Given the description of an element on the screen output the (x, y) to click on. 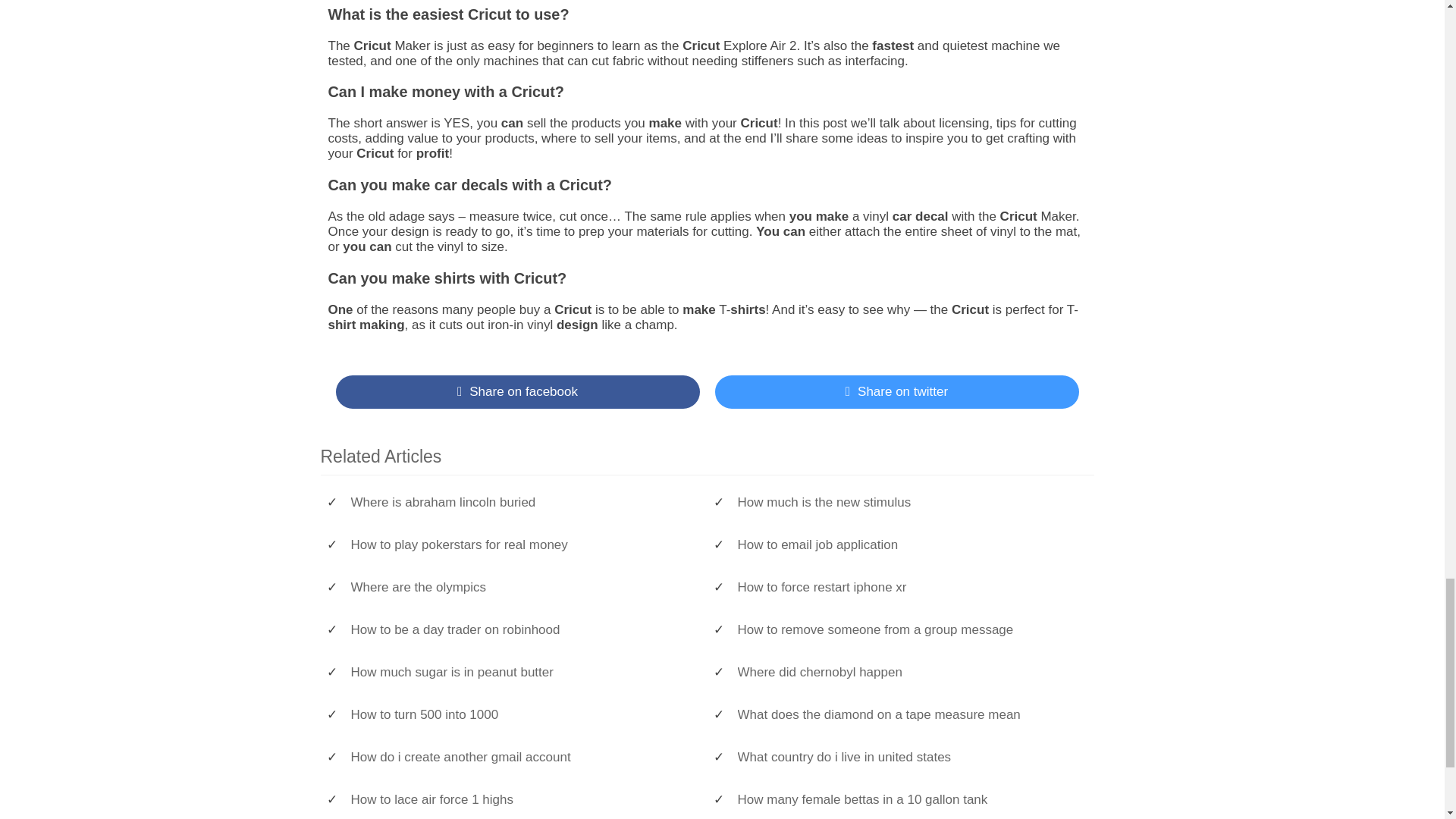
What country do i live in united states (907, 757)
Where is abraham lincoln buried (520, 502)
What does the diamond on a tape measure mean (907, 714)
Where are the olympics (520, 587)
How much sugar is in peanut butter (520, 672)
Share on facebook (516, 391)
How much is the new stimulus (907, 502)
How to be a day trader on robinhood (520, 630)
How much is the new stimulus (907, 502)
Where is abraham lincoln buried (520, 502)
How to force restart iphone xr (907, 587)
Where did chernobyl happen (907, 672)
How to play pokerstars for real money (520, 544)
How to email job application (907, 544)
How to email job application (907, 544)
